Given the description of an element on the screen output the (x, y) to click on. 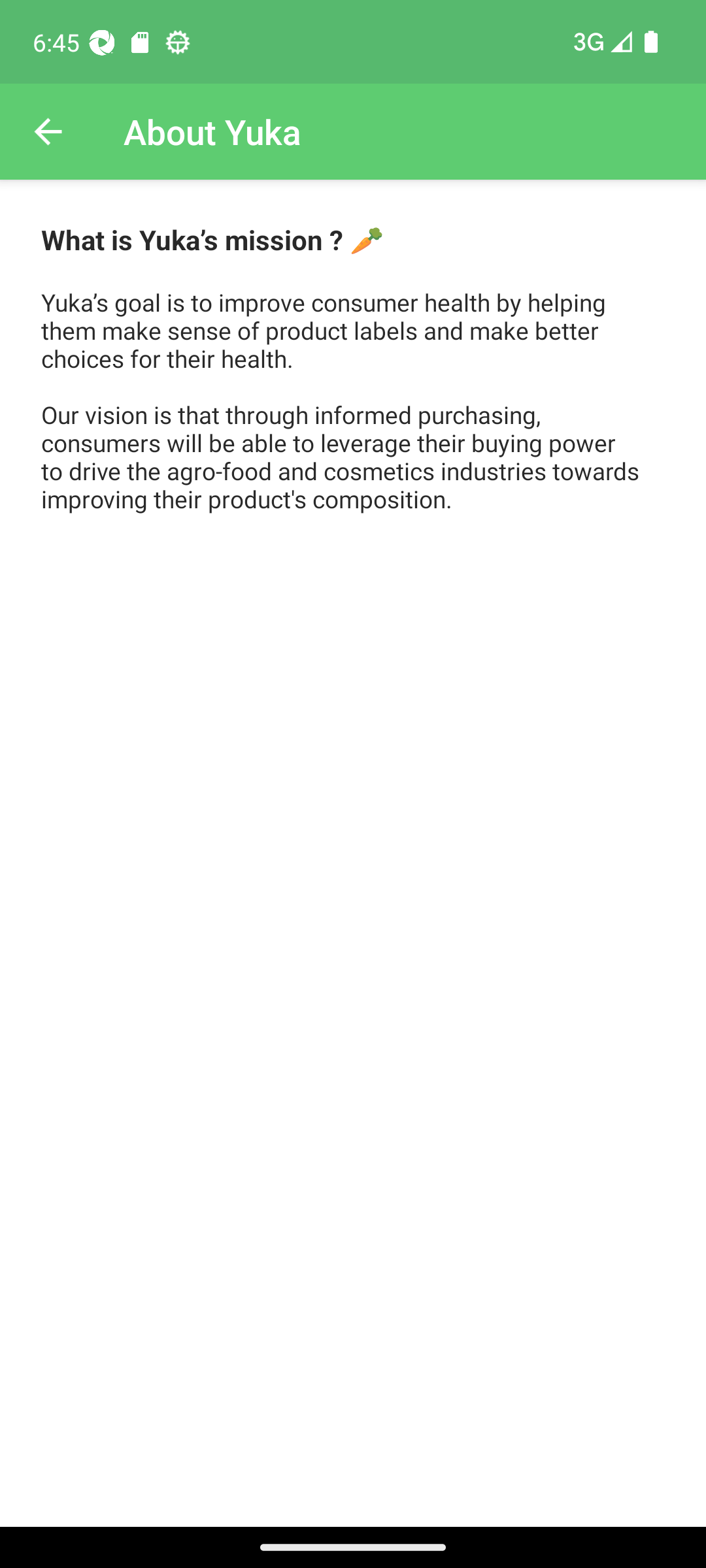
Navigate up (48, 131)
